Given the description of an element on the screen output the (x, y) to click on. 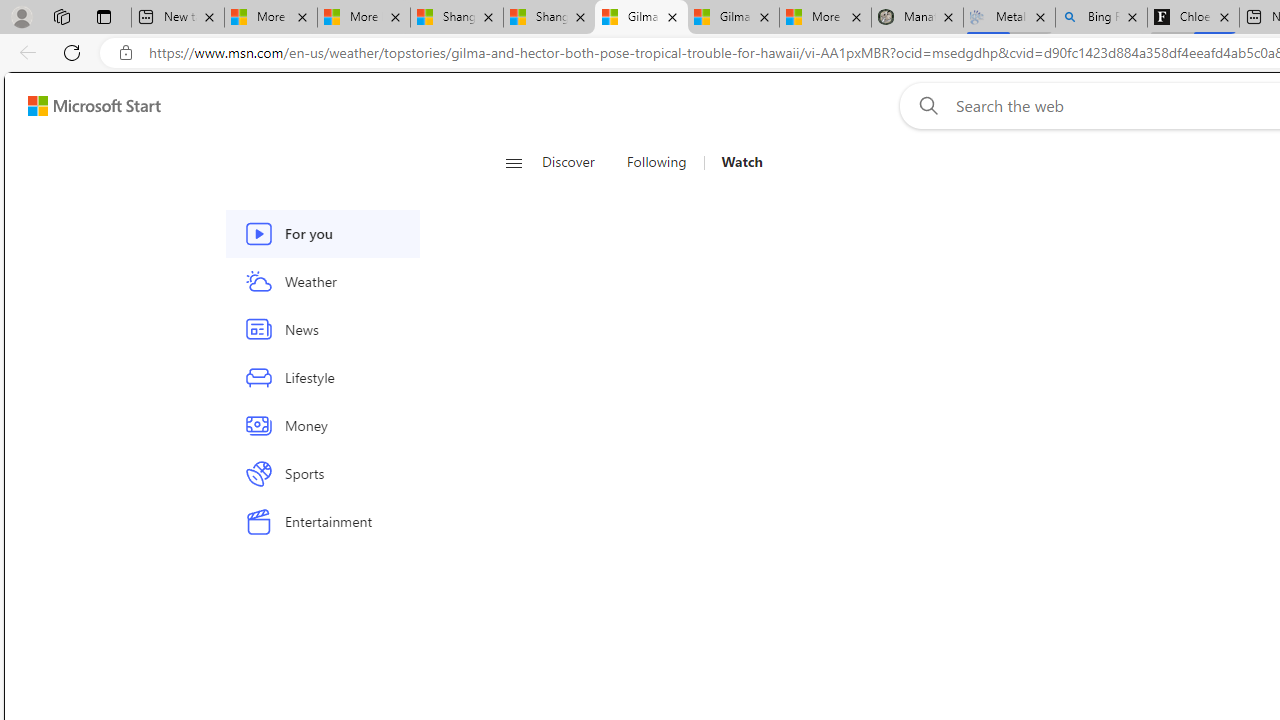
Skip to footer (82, 105)
Watch (742, 162)
Web search (924, 105)
Shanghai, China weather forecast | Microsoft Weather (549, 17)
